Given the description of an element on the screen output the (x, y) to click on. 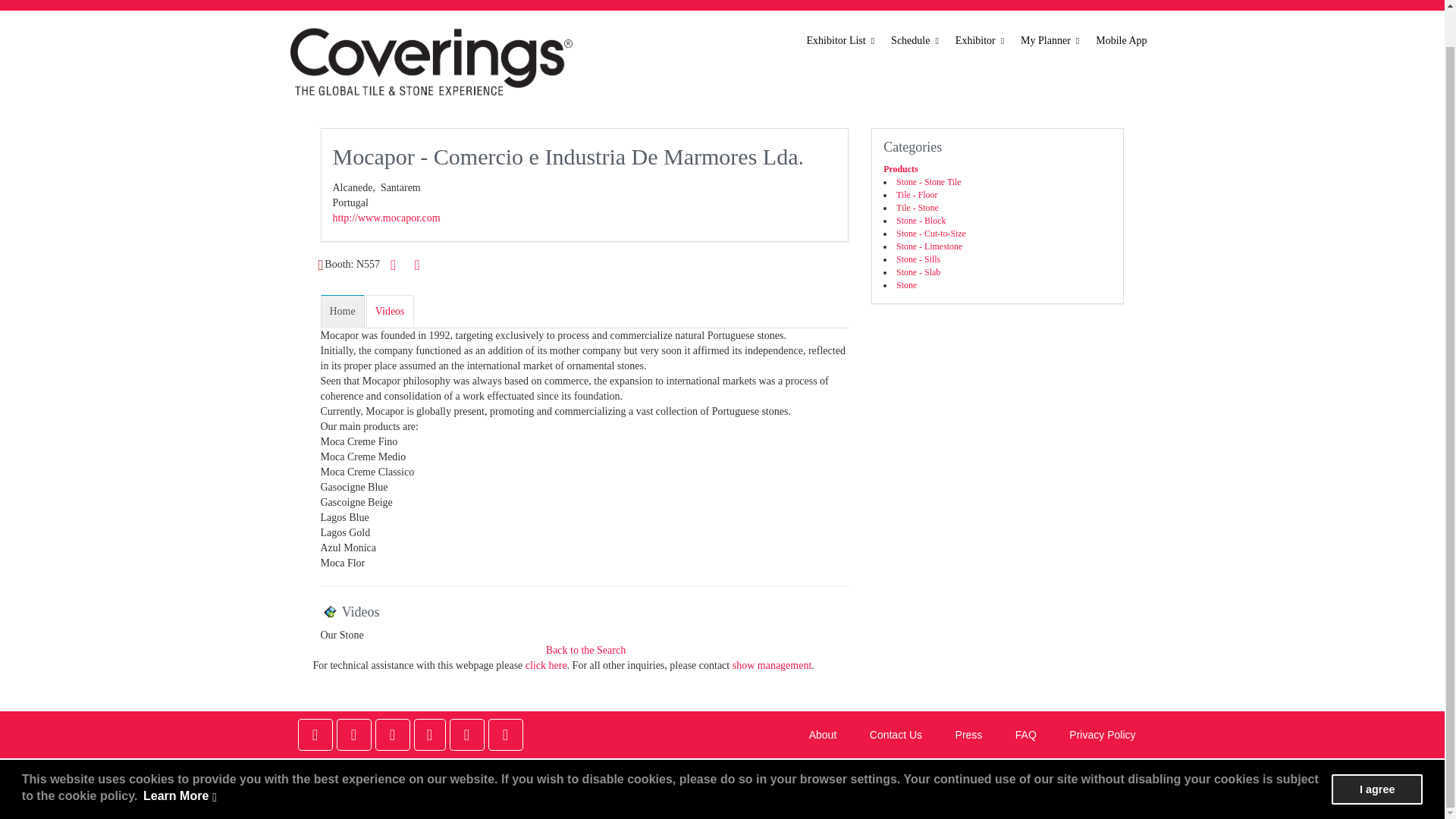
Exhibitor List (841, 40)
Schedule (820, 3)
Mobile App (1120, 40)
FAQ (1043, 3)
Attend (609, 3)
Floor Plan (907, 3)
I agree (1377, 750)
About (746, 3)
Contact (1110, 3)
Exhibit (679, 3)
